Given the description of an element on the screen output the (x, y) to click on. 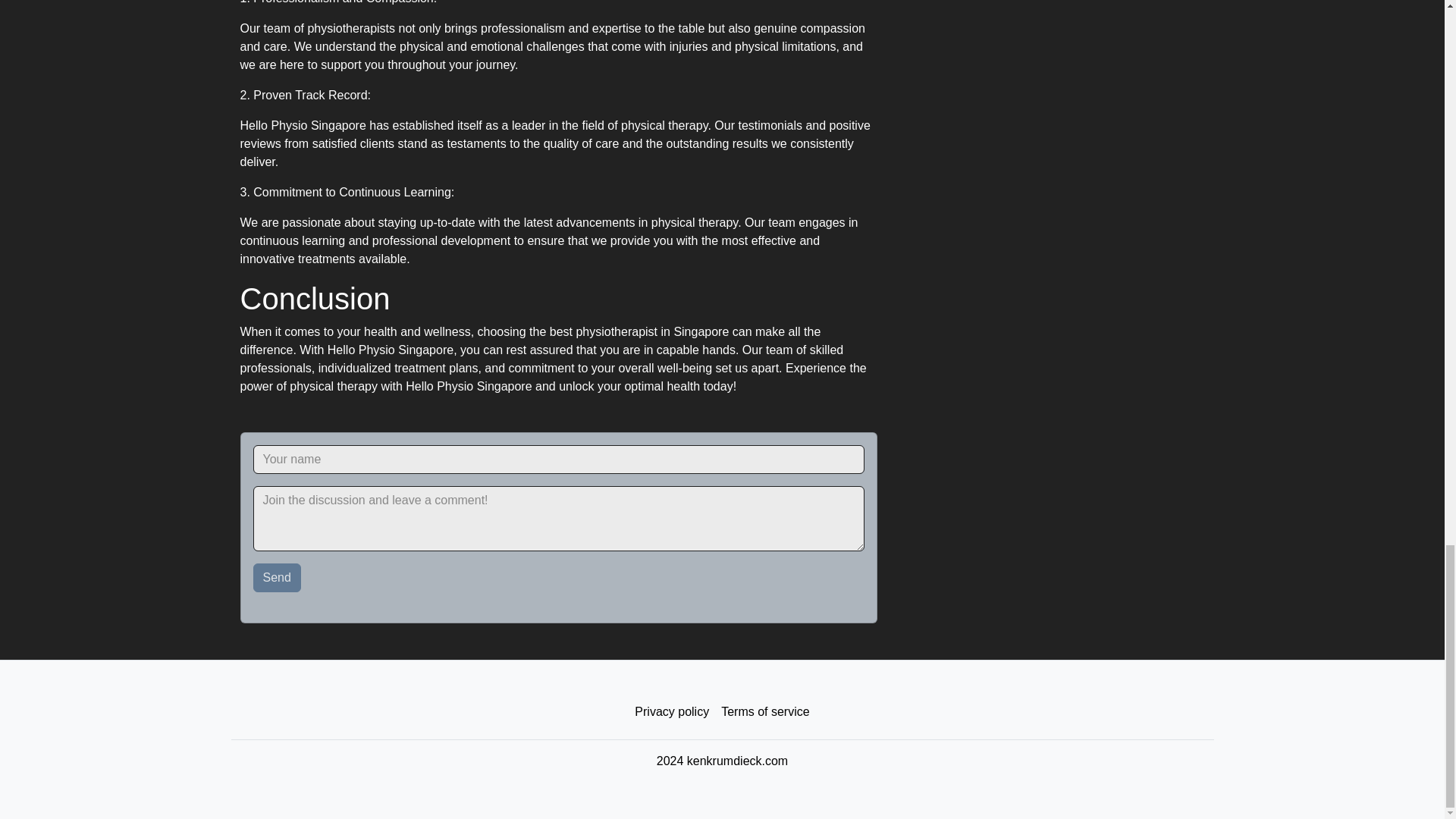
Terms of service (764, 711)
Privacy policy (671, 711)
Send (277, 577)
Send (277, 577)
